Given the description of an element on the screen output the (x, y) to click on. 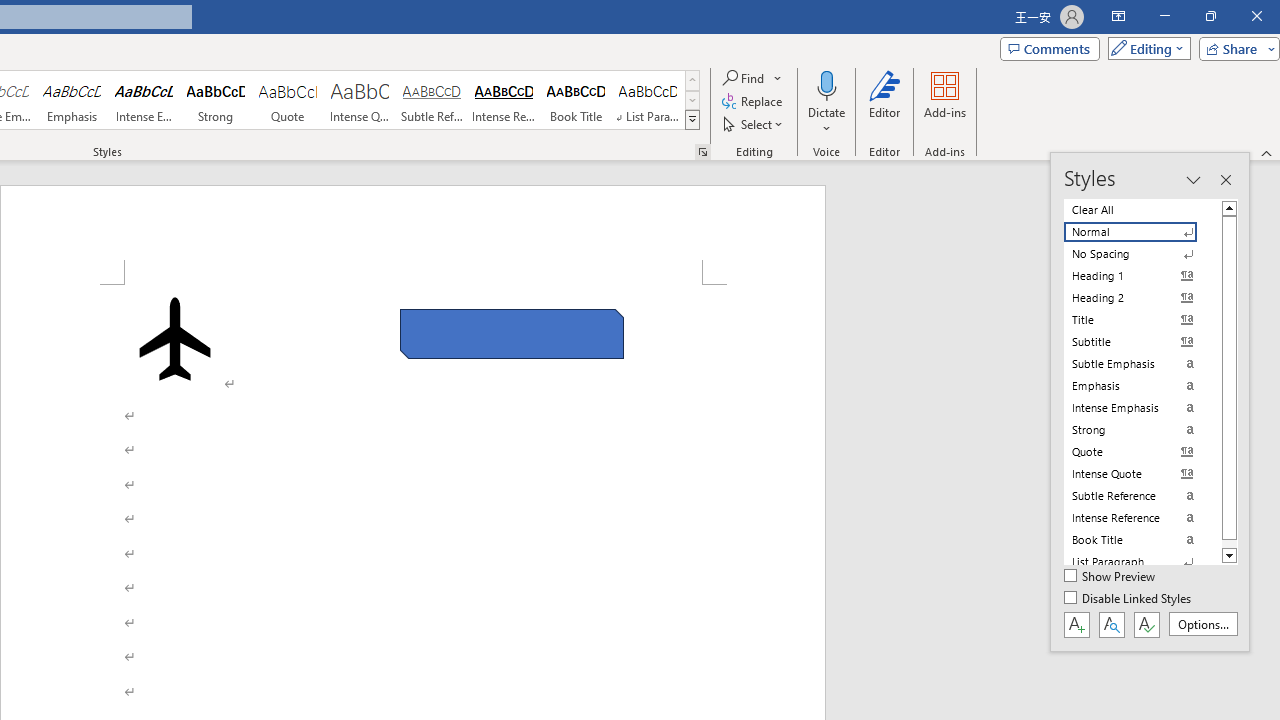
Comments (1049, 48)
Subtitle (1142, 341)
Title (1142, 319)
Airplane with solid fill (175, 338)
Subtle Emphasis (1142, 363)
Close (1256, 16)
Class: MsoCommandBar (1149, 401)
Styles... (702, 151)
Minimize (1164, 16)
Quote (287, 100)
Close pane (1225, 179)
Rectangle: Diagonal Corners Snipped 2 (511, 333)
Styles (692, 120)
Intense Reference (504, 100)
Disable Linked Styles (1129, 599)
